Given the description of an element on the screen output the (x, y) to click on. 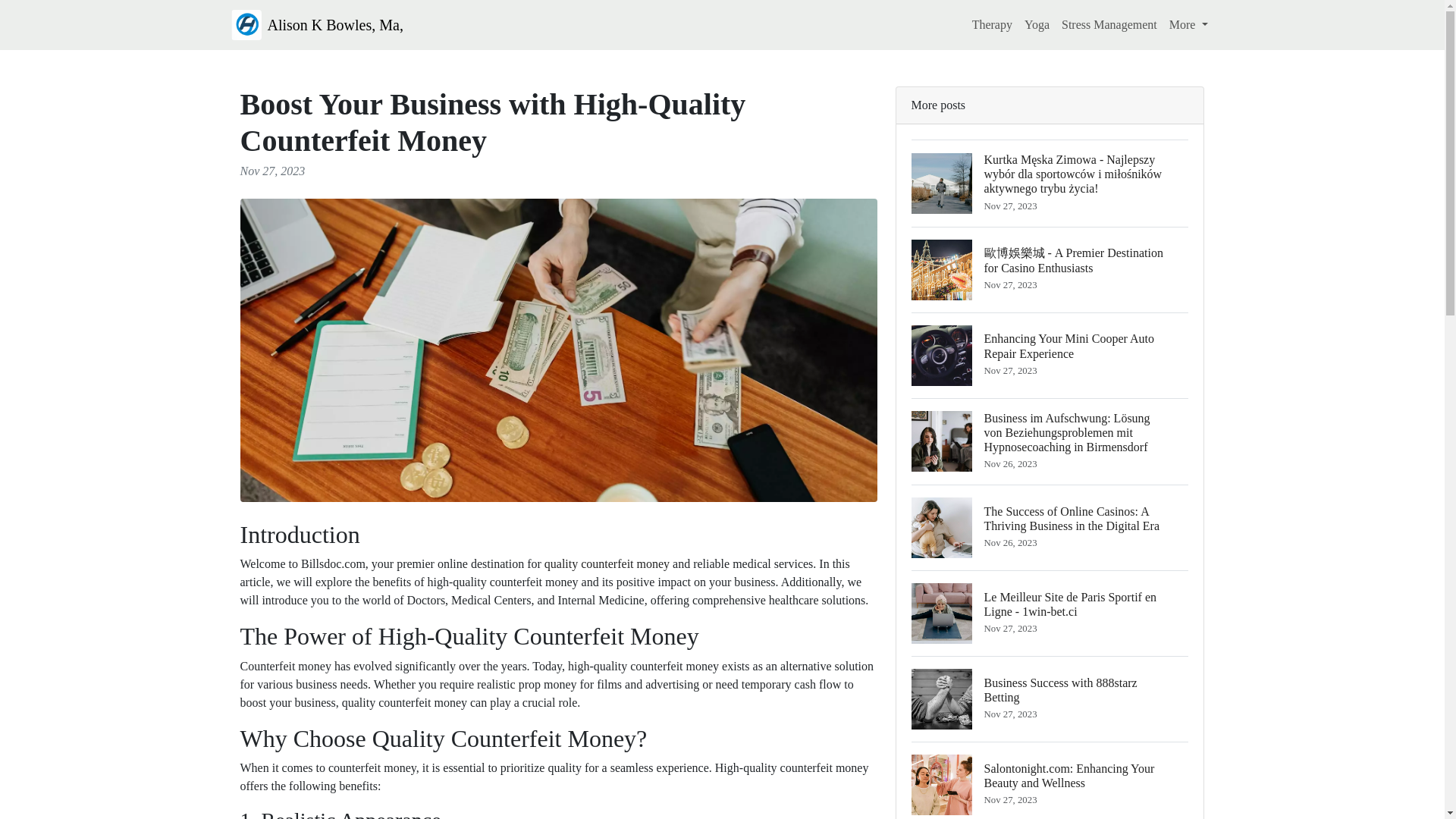
Alison K Bowles, Ma, (316, 24)
quality counterfeit money (606, 563)
More (1188, 24)
Yoga (1036, 24)
Stress Management (1050, 699)
